Given the description of an element on the screen output the (x, y) to click on. 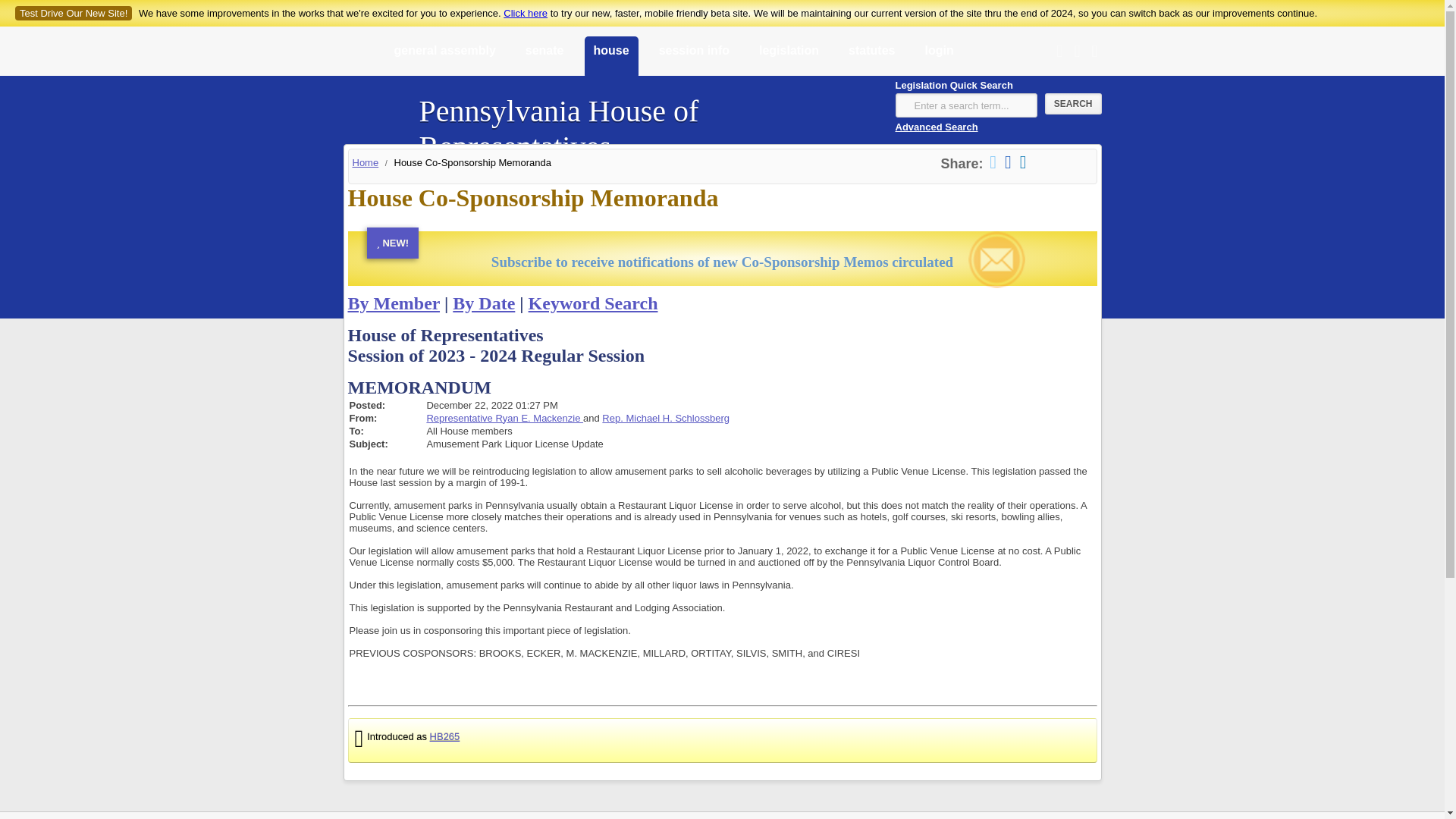
Click here (525, 12)
Advanced Search (935, 126)
login (938, 57)
statutes (872, 57)
Search (1073, 103)
legislation (788, 57)
Search (1073, 103)
senate (544, 57)
session info (693, 57)
general assembly (445, 57)
